Given the description of an element on the screen output the (x, y) to click on. 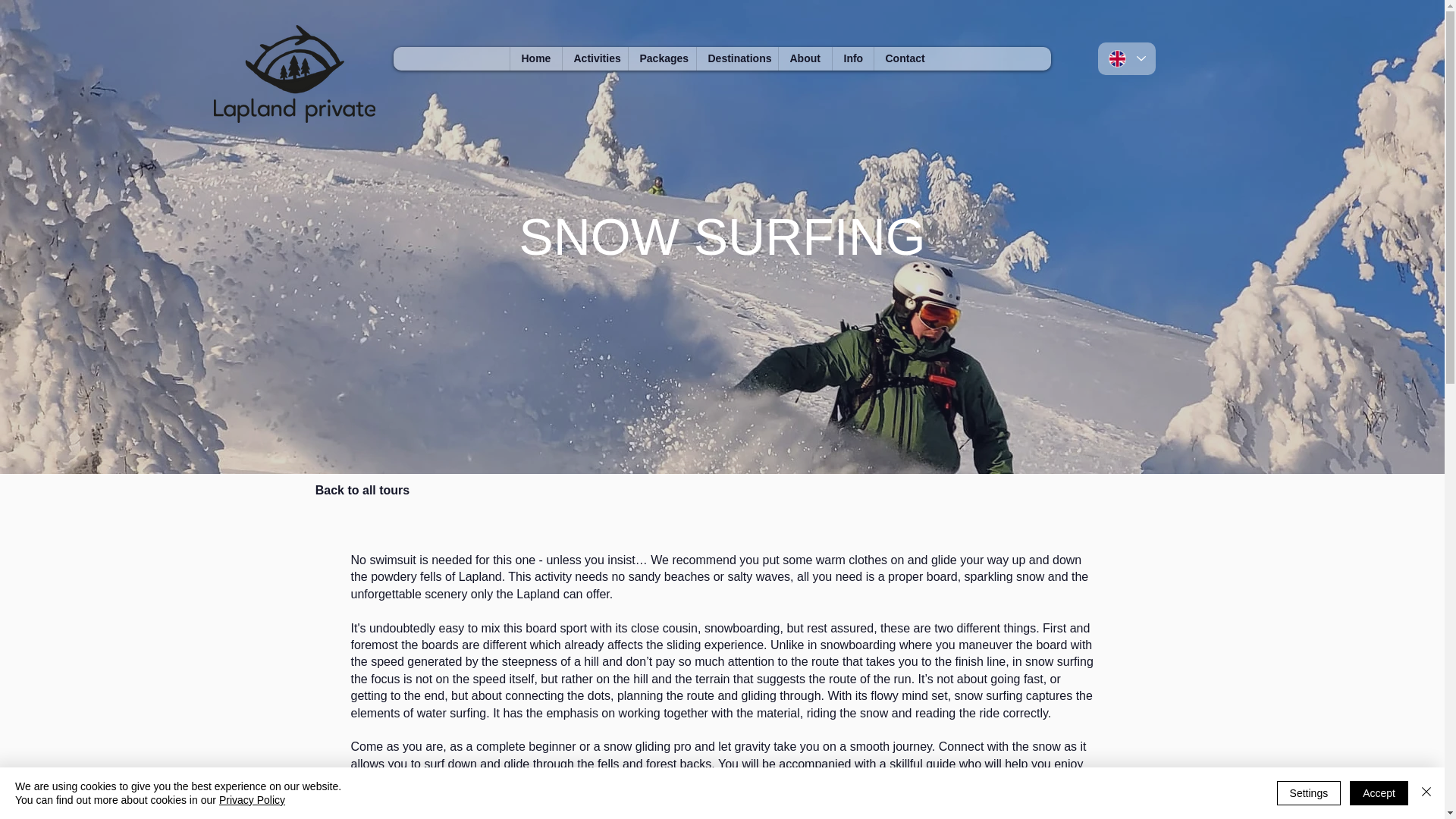
Back to all tours (362, 490)
About (804, 58)
Home (535, 58)
Destinations (736, 58)
Activities (593, 58)
Contact (903, 58)
Packages (661, 58)
